Given the description of an element on the screen output the (x, y) to click on. 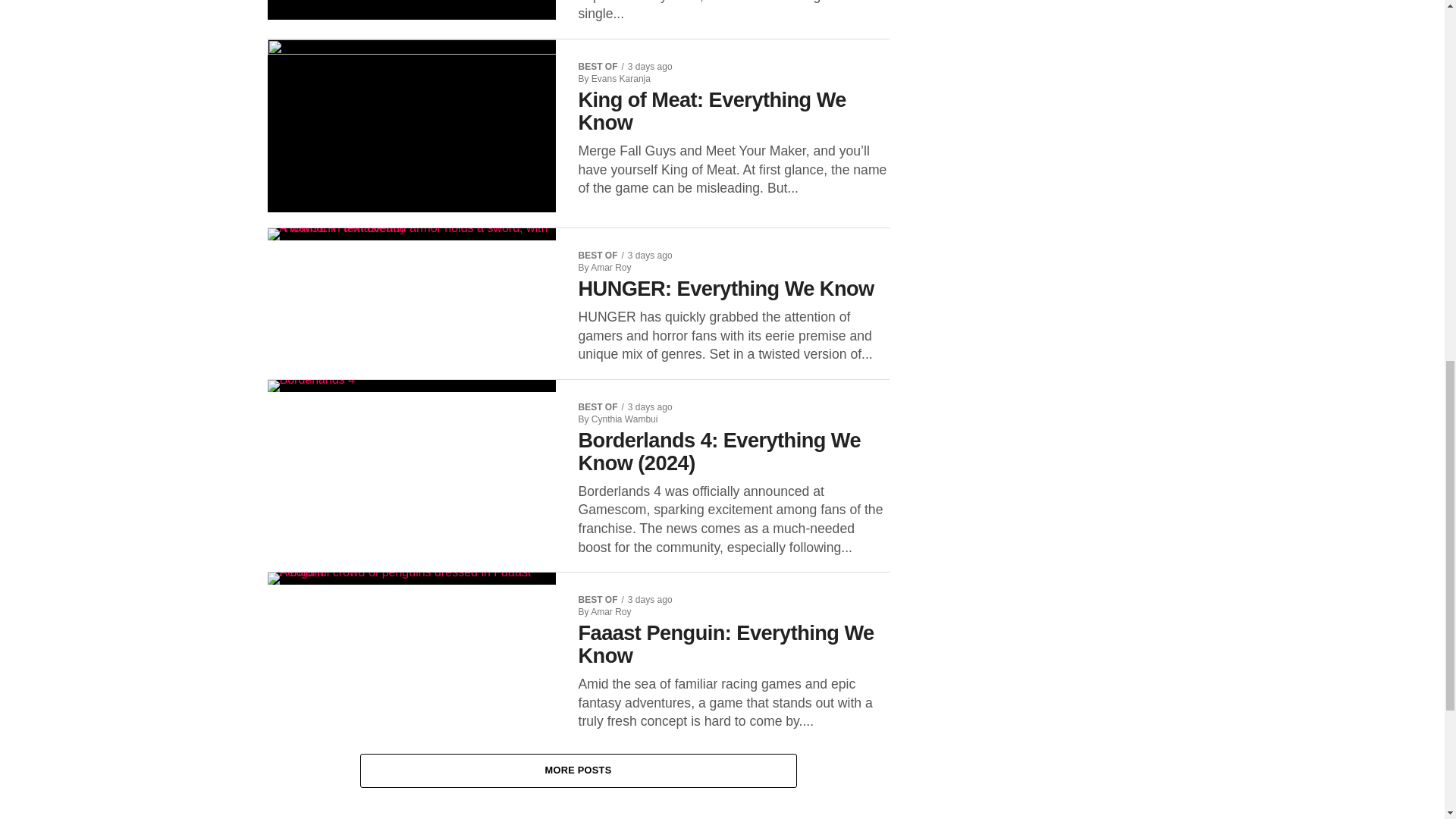
Posts by Evans Karanja (620, 78)
Posts by Amar Roy (610, 611)
Posts by Amar Roy (610, 267)
Posts by Cynthia Wambui (624, 419)
